Given the description of an element on the screen output the (x, y) to click on. 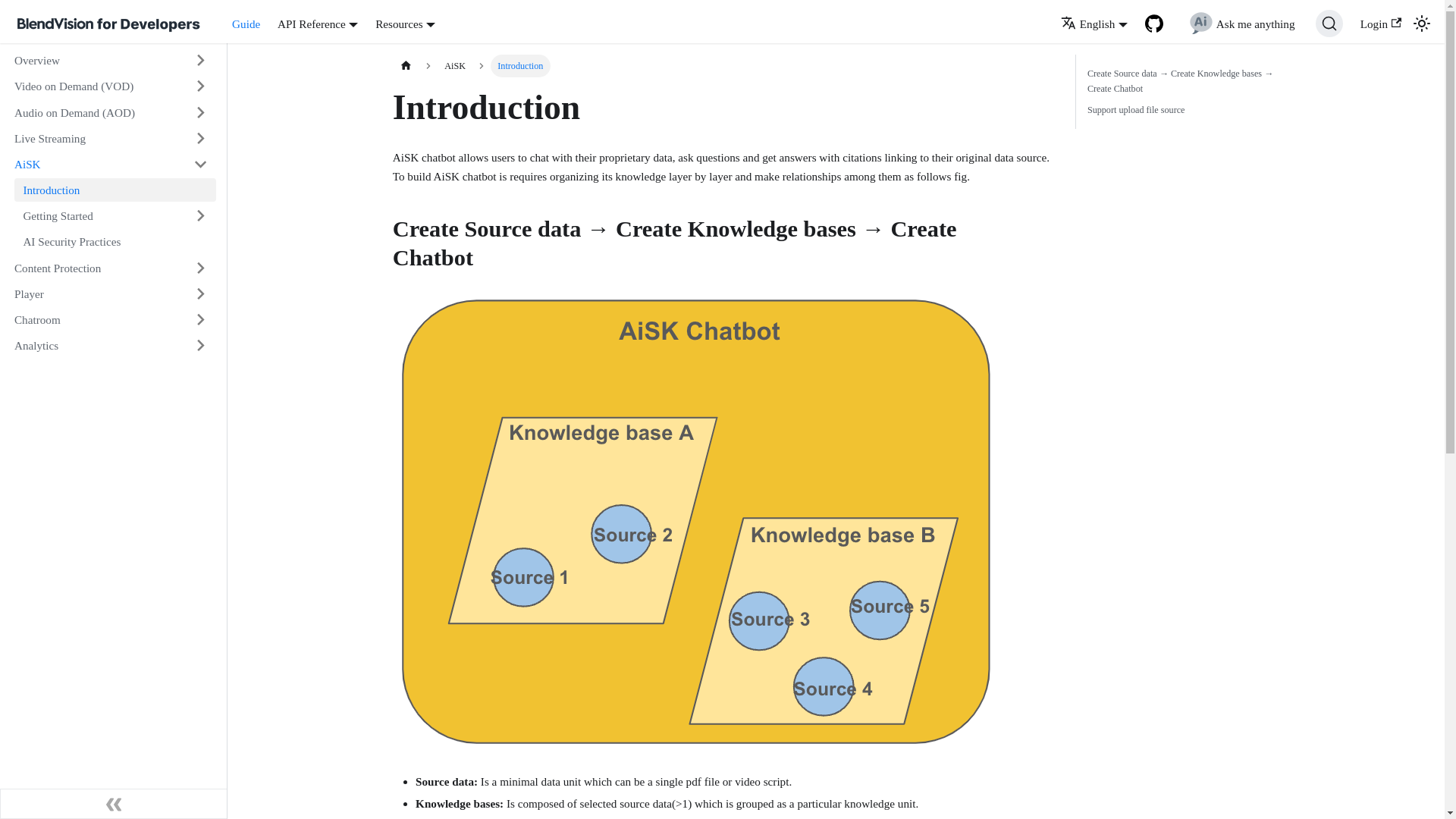
Live Streaming (94, 137)
Overview (94, 60)
Ask me anything (1241, 23)
Guide (246, 23)
API Reference (318, 23)
Login (1380, 23)
AiSK (94, 163)
Collapse sidebar (113, 803)
Introduction (114, 189)
English (1093, 23)
